Given the description of an element on the screen output the (x, y) to click on. 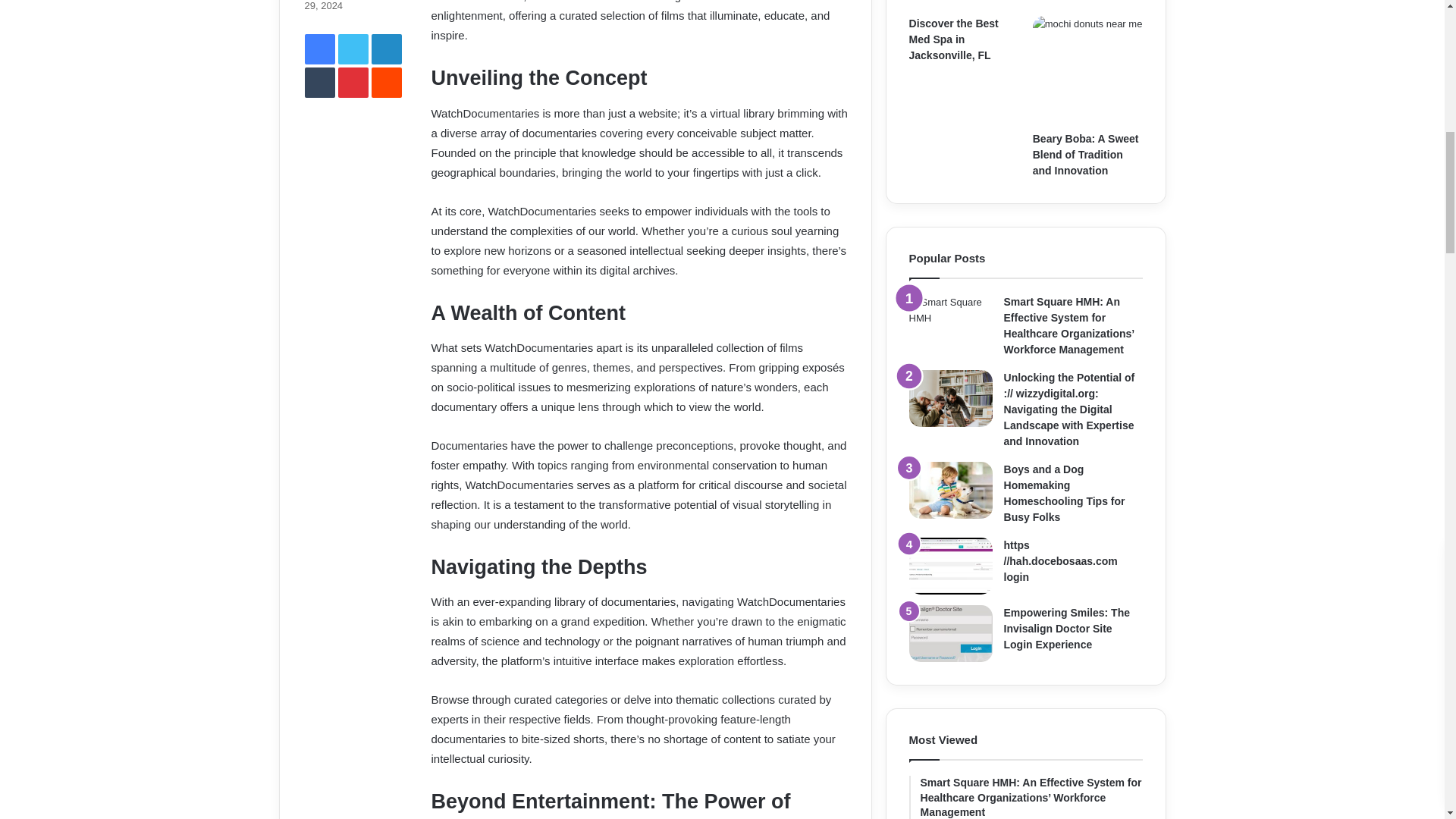
LinkedIn (386, 49)
Tumblr (319, 82)
Pinterest (352, 82)
LinkedIn (386, 49)
Twitter (352, 49)
Twitter (352, 49)
Facebook (319, 49)
Pinterest (352, 82)
Reddit (386, 82)
WatchDocumentaries (587, 1)
